Given the description of an element on the screen output the (x, y) to click on. 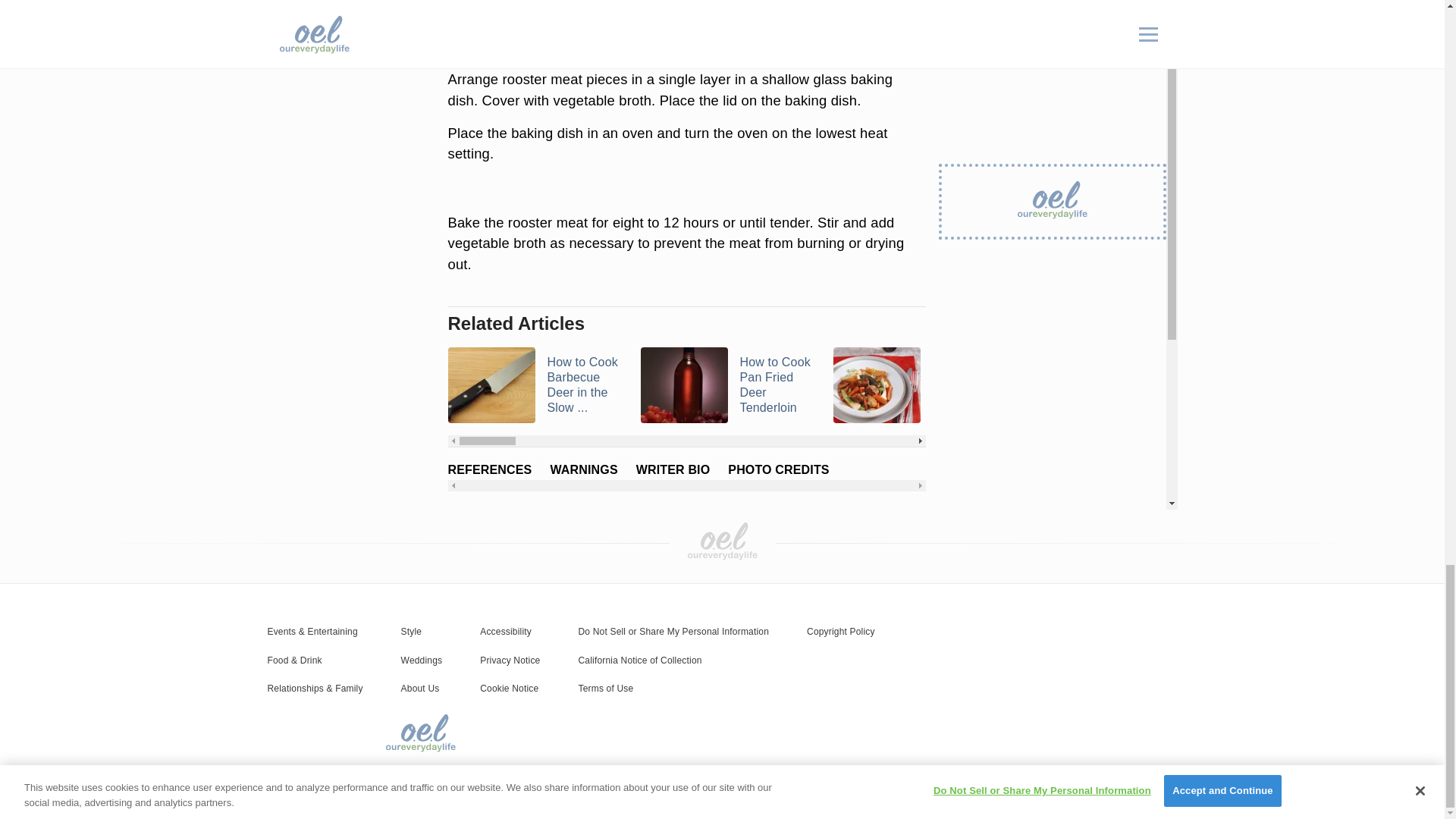
How to Cook Boneless Country Spare Ribs (1304, 385)
How to Cook Barbecue Deer in the Slow ... (533, 385)
How to Cook Pan Fried Deer Tenderloin (726, 385)
How to Cook the Neck of a Deer (919, 385)
How to Make a Juicy Pork Tenderloin (1112, 385)
